Given the description of an element on the screen output the (x, y) to click on. 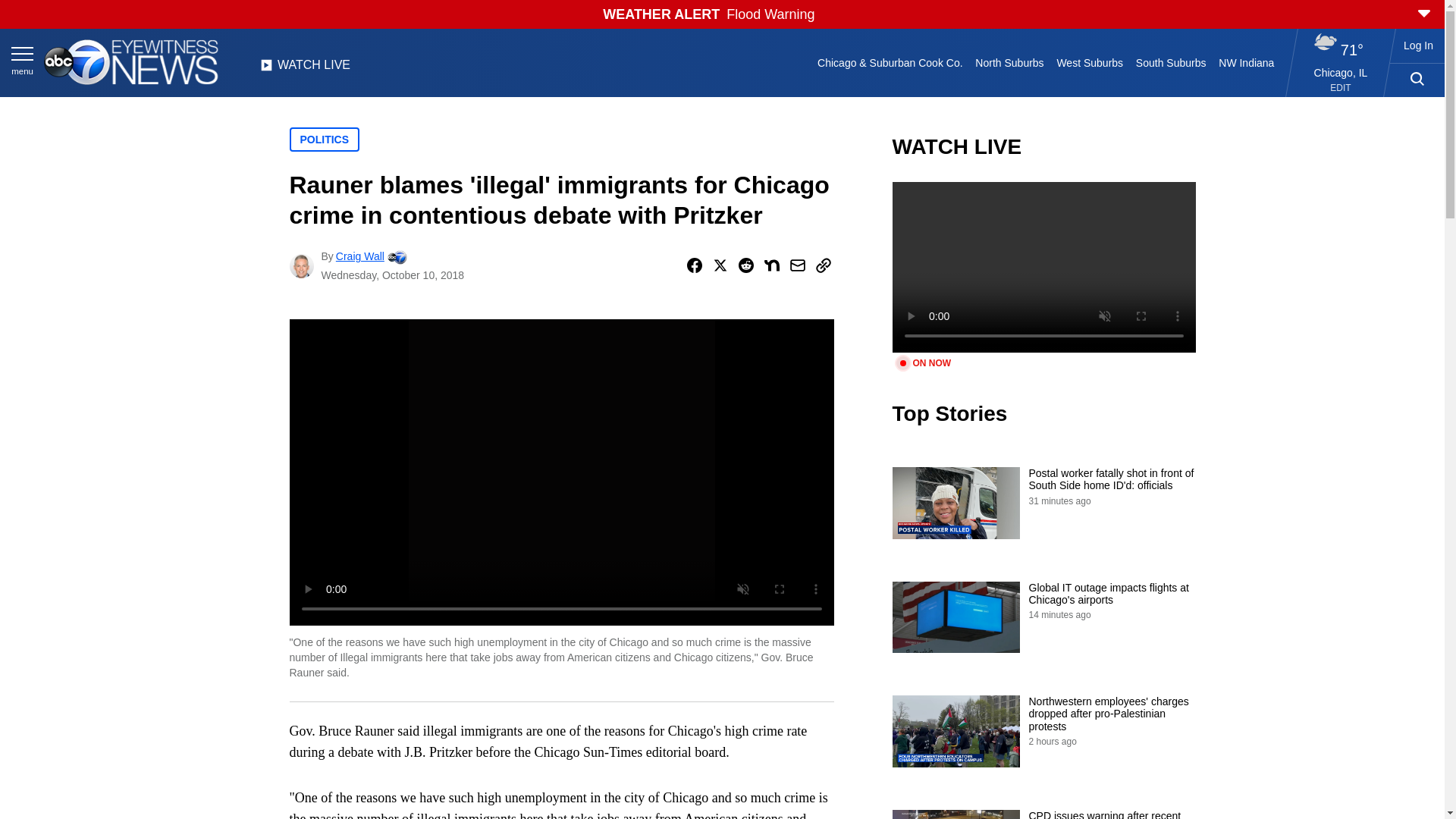
North Suburbs (1009, 62)
video.title (1043, 266)
EDIT (1340, 87)
WATCH LIVE (305, 69)
Chicago, IL (1340, 72)
South Suburbs (1170, 62)
NW Indiana (1246, 62)
West Suburbs (1089, 62)
